Given the description of an element on the screen output the (x, y) to click on. 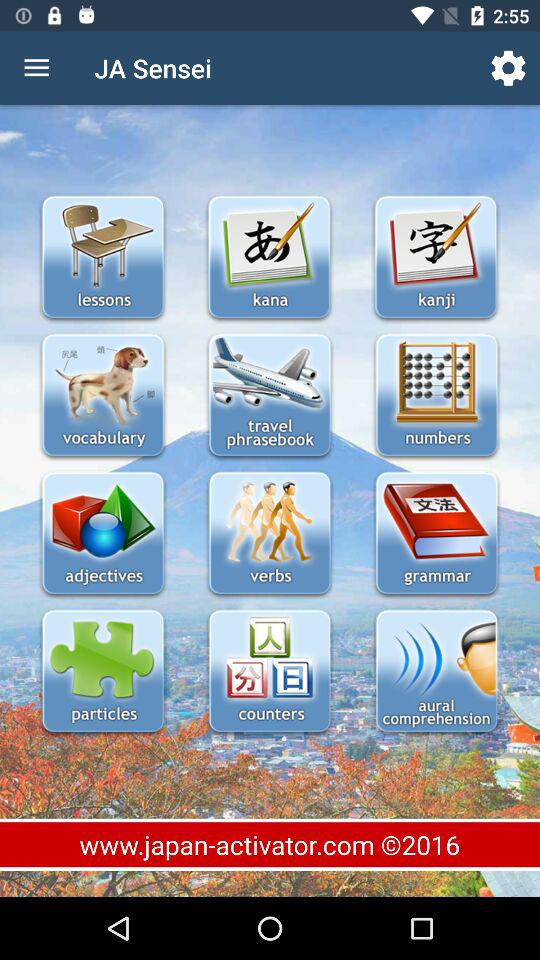
open numbers page (436, 396)
